Given the description of an element on the screen output the (x, y) to click on. 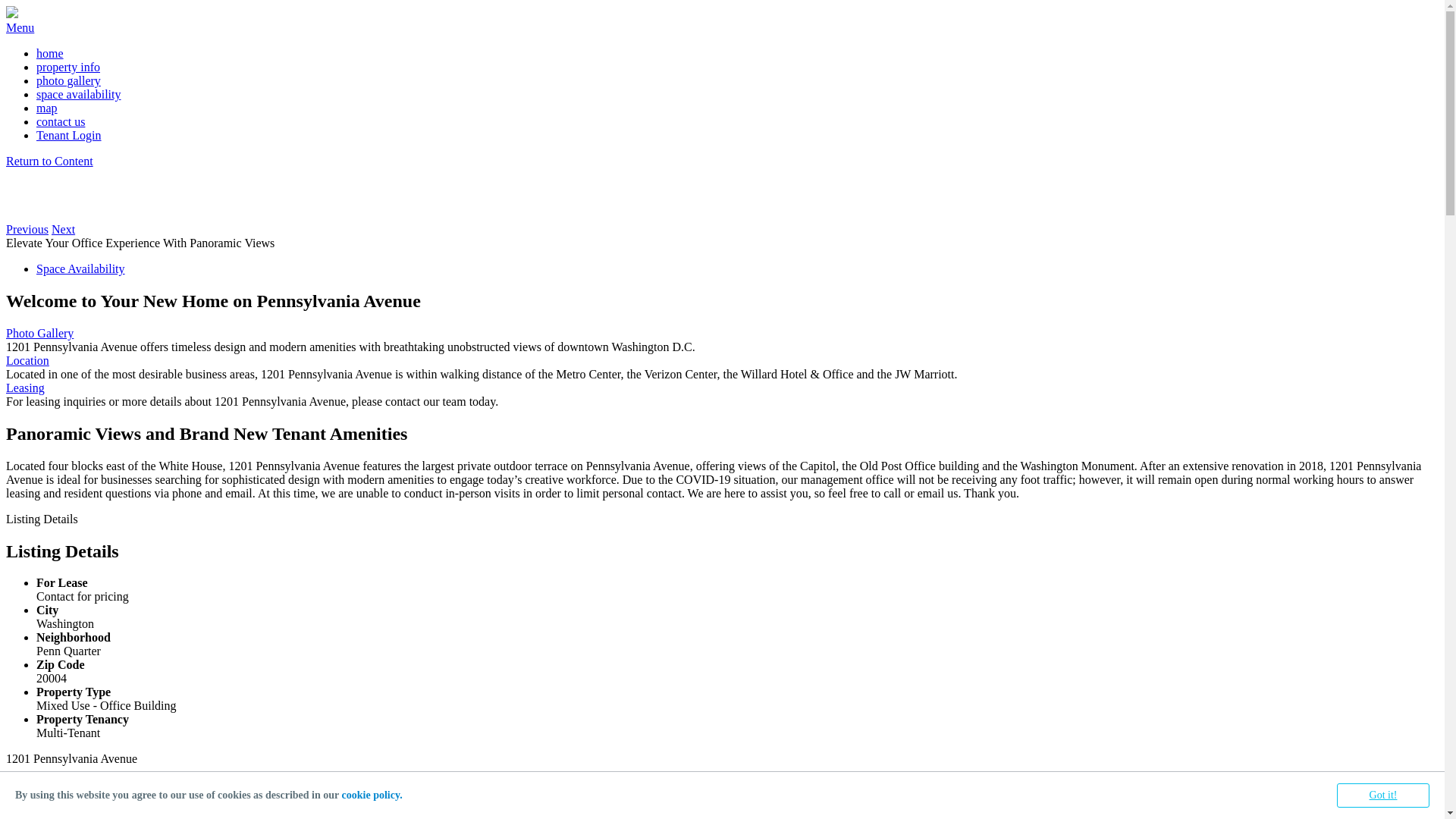
Tenant Login Element type: text (68, 134)
home Element type: text (49, 53)
photo gallery Element type: text (68, 80)
map Element type: text (46, 107)
contact us Element type: text (60, 121)
Leasing Element type: text (722, 388)
Return to Content Element type: text (49, 160)
space availability Element type: text (78, 93)
cookie policy. Element type: text (372, 794)
Got it! Element type: text (1382, 795)
Menu Element type: text (20, 27)
Photo Gallery Element type: text (722, 333)
property info Element type: text (68, 66)
Next Element type: text (63, 228)
Previous Element type: text (27, 228)
Space Availability Element type: text (80, 268)
Location Element type: text (722, 360)
